Given the description of an element on the screen output the (x, y) to click on. 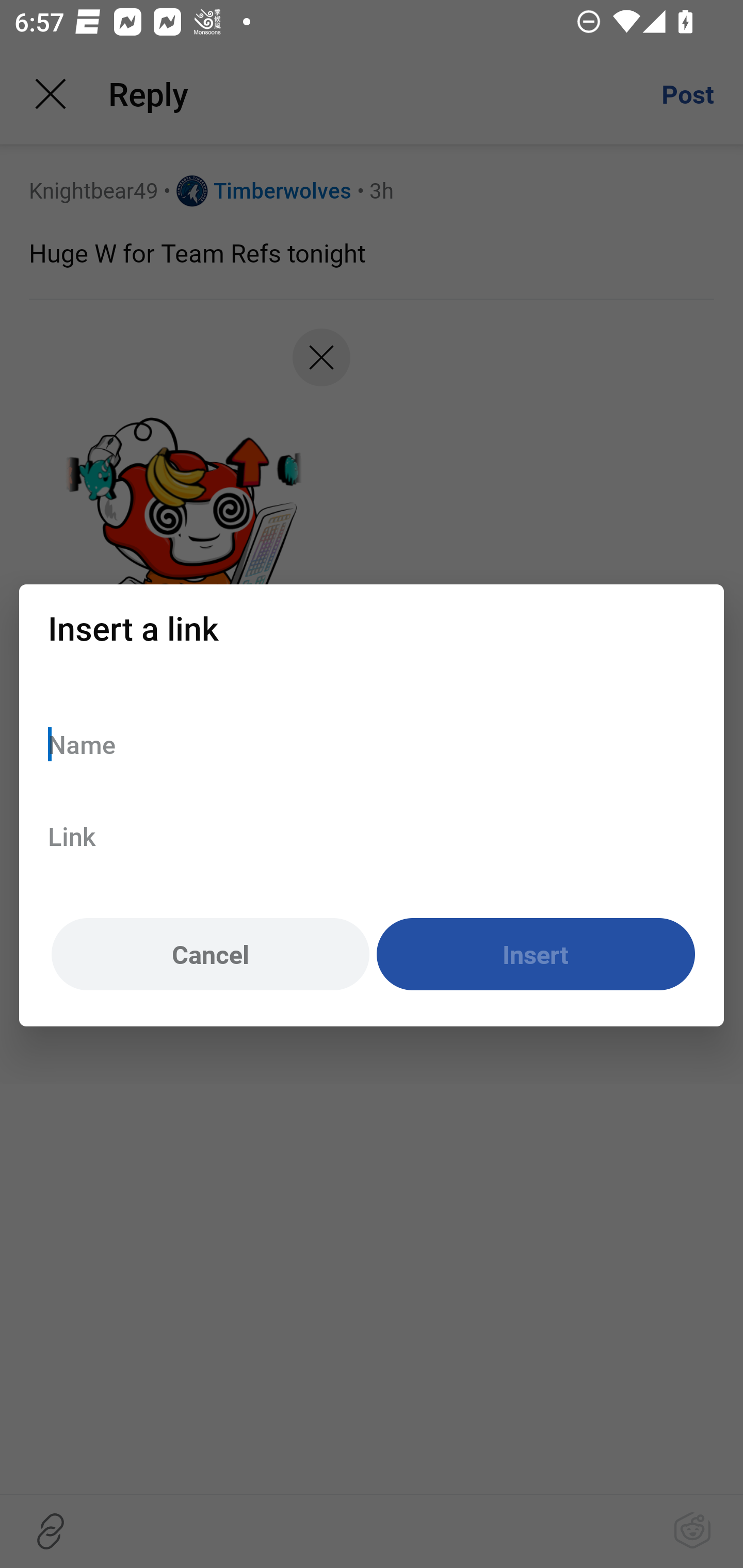
Name (371, 743)
Link (371, 835)
Cancel (210, 954)
Insert (535, 954)
